Given the description of an element on the screen output the (x, y) to click on. 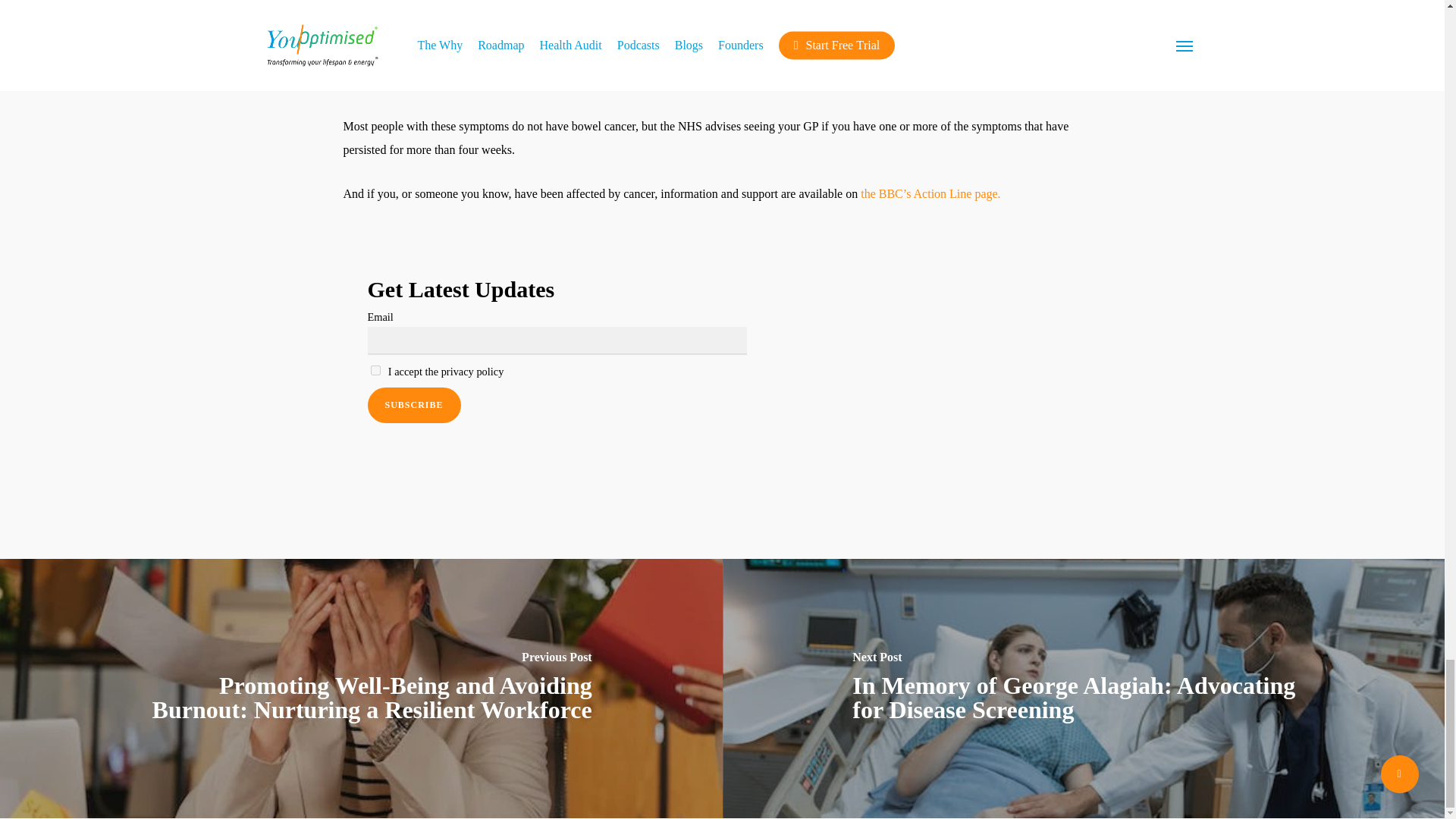
Subscribe (413, 405)
on (374, 370)
How to check for bowel cancer (440, 79)
Subscribe (413, 405)
